Given the description of an element on the screen output the (x, y) to click on. 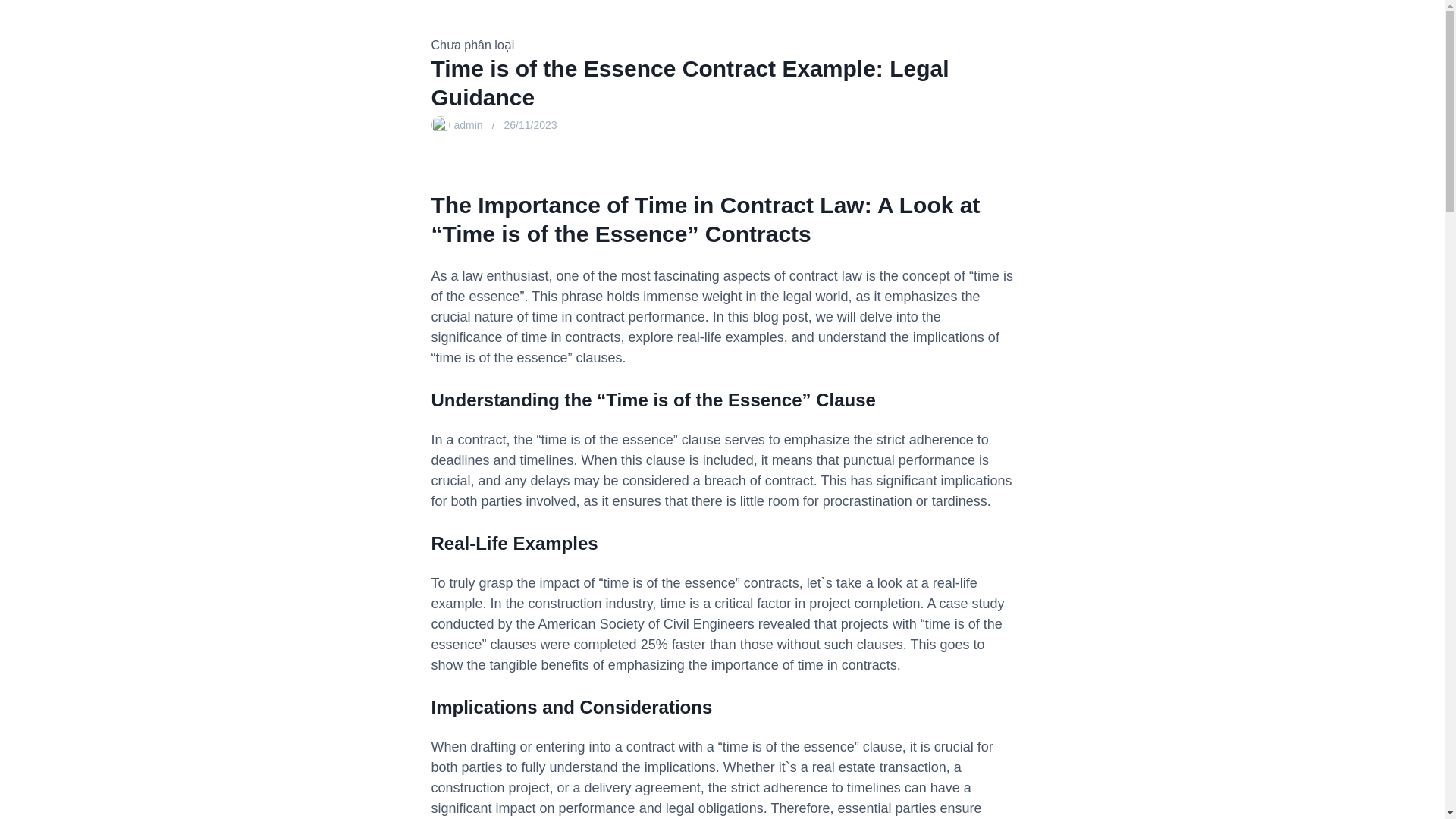
admin (466, 124)
